Given the description of an element on the screen output the (x, y) to click on. 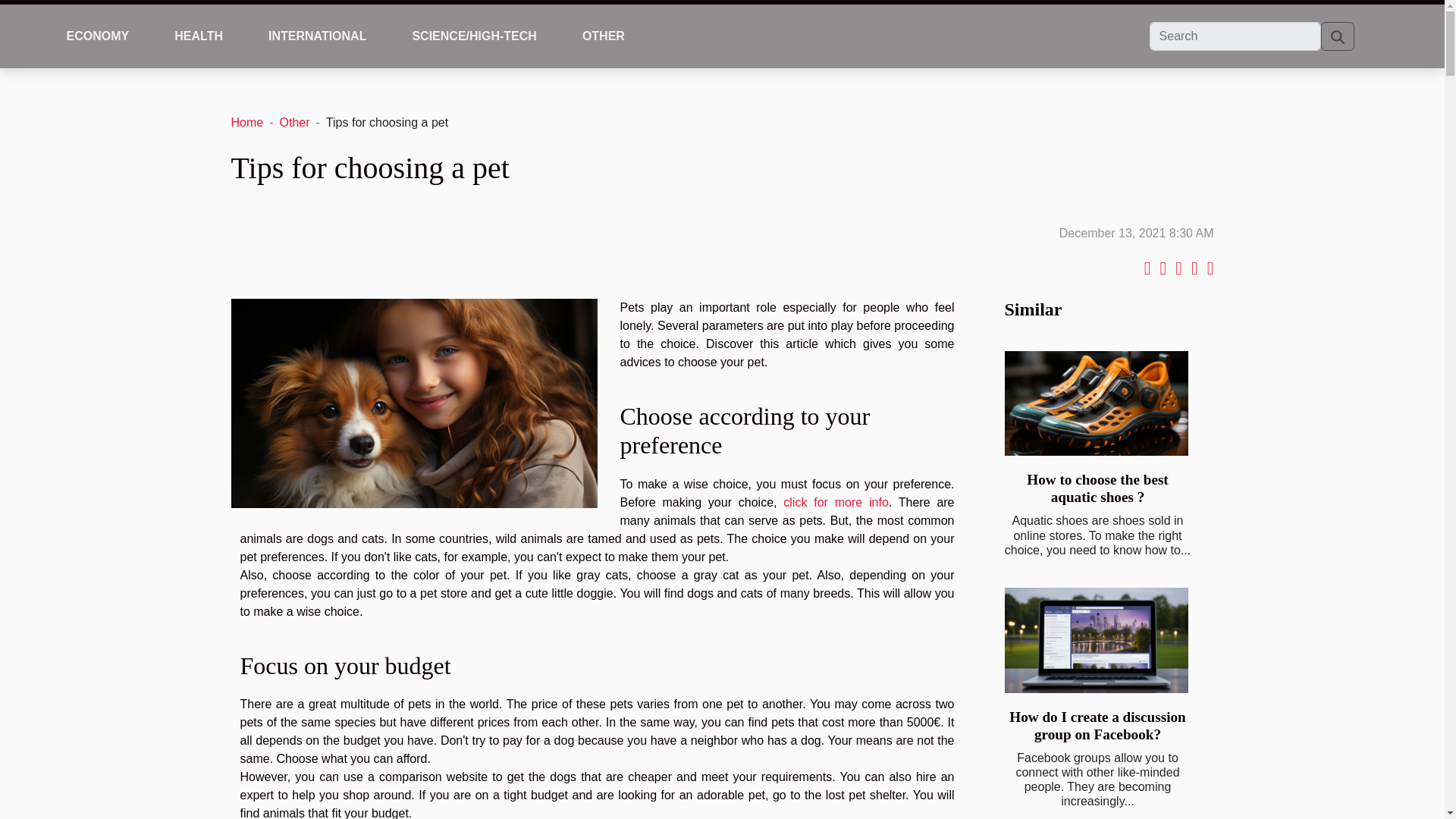
INTERNATIONAL (317, 35)
How do I create a discussion group on Facebook? (1097, 725)
How do I create a discussion group on Facebook? (1097, 725)
click for more info (835, 502)
ECONOMY (97, 35)
How to choose the best aquatic shoes ? (1097, 488)
Other (294, 122)
How do I create a discussion group on Facebook? (1096, 640)
How to choose the best aquatic shoes ? (1096, 403)
Home (246, 122)
